Given the description of an element on the screen output the (x, y) to click on. 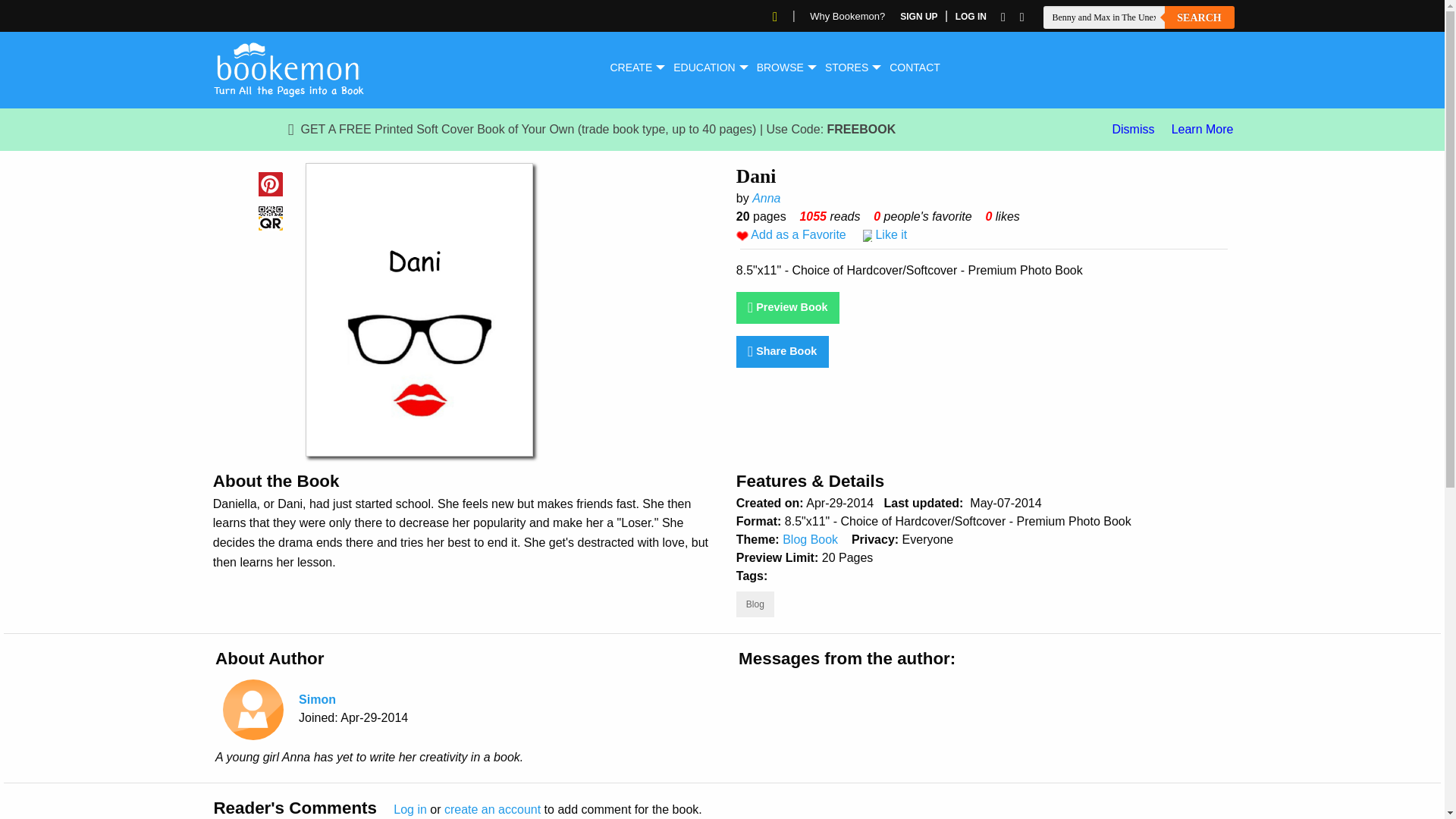
STORES (846, 67)
Pin this Book (269, 183)
EDUCATION (703, 67)
SEARCH (1199, 16)
BROWSE (779, 67)
Benny and Max in The Unexpected Visitor (1103, 16)
CONTACT (914, 67)
Learn More (1202, 128)
Dismiss (1133, 128)
CREATE (630, 67)
SIGN UP (918, 16)
Click to Display QR code for the Book (269, 216)
Why Bookemon? (847, 16)
LOG IN (971, 16)
